Given the description of an element on the screen output the (x, y) to click on. 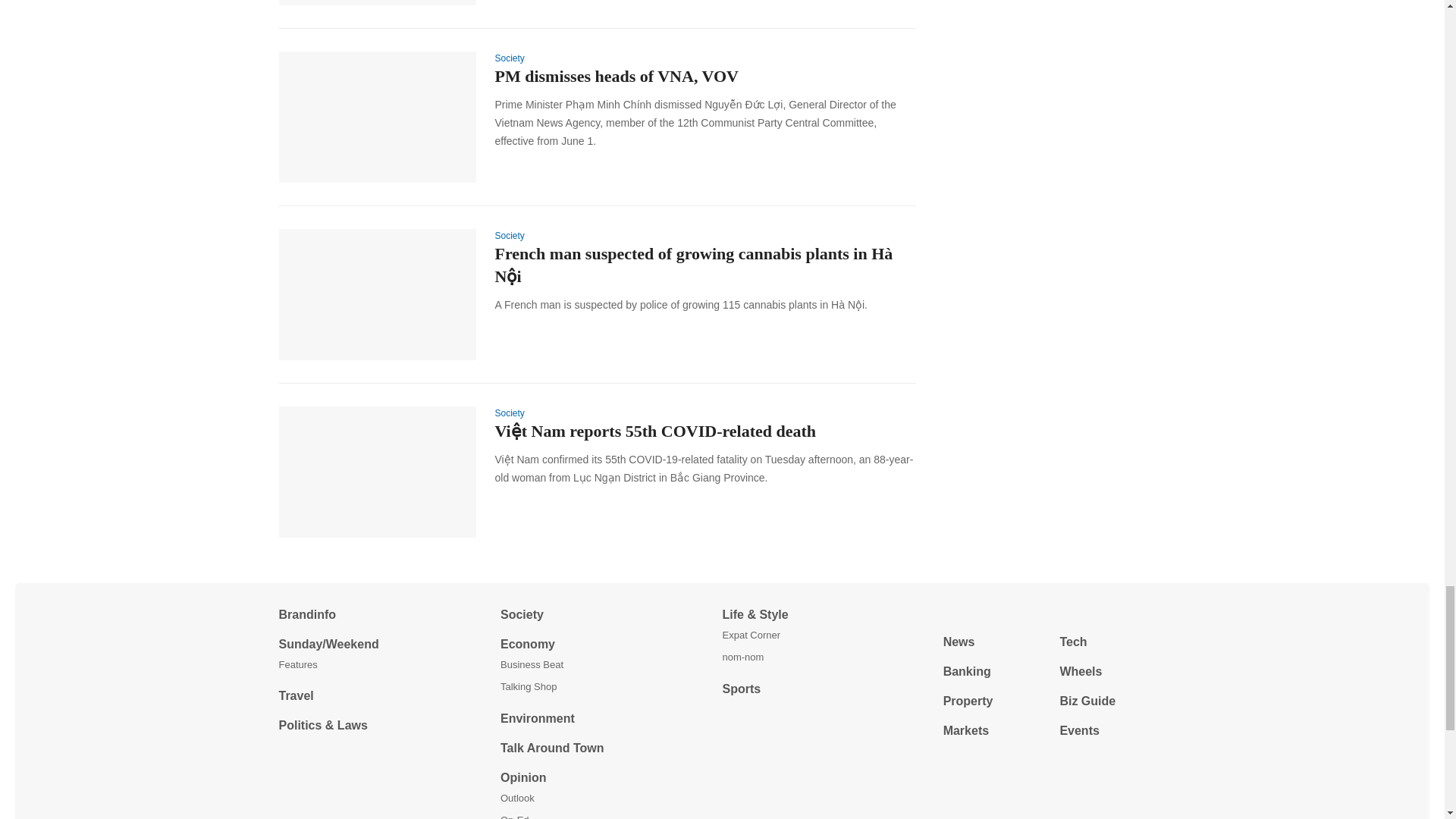
bizhub (1054, 613)
